Given the description of an element on the screen output the (x, y) to click on. 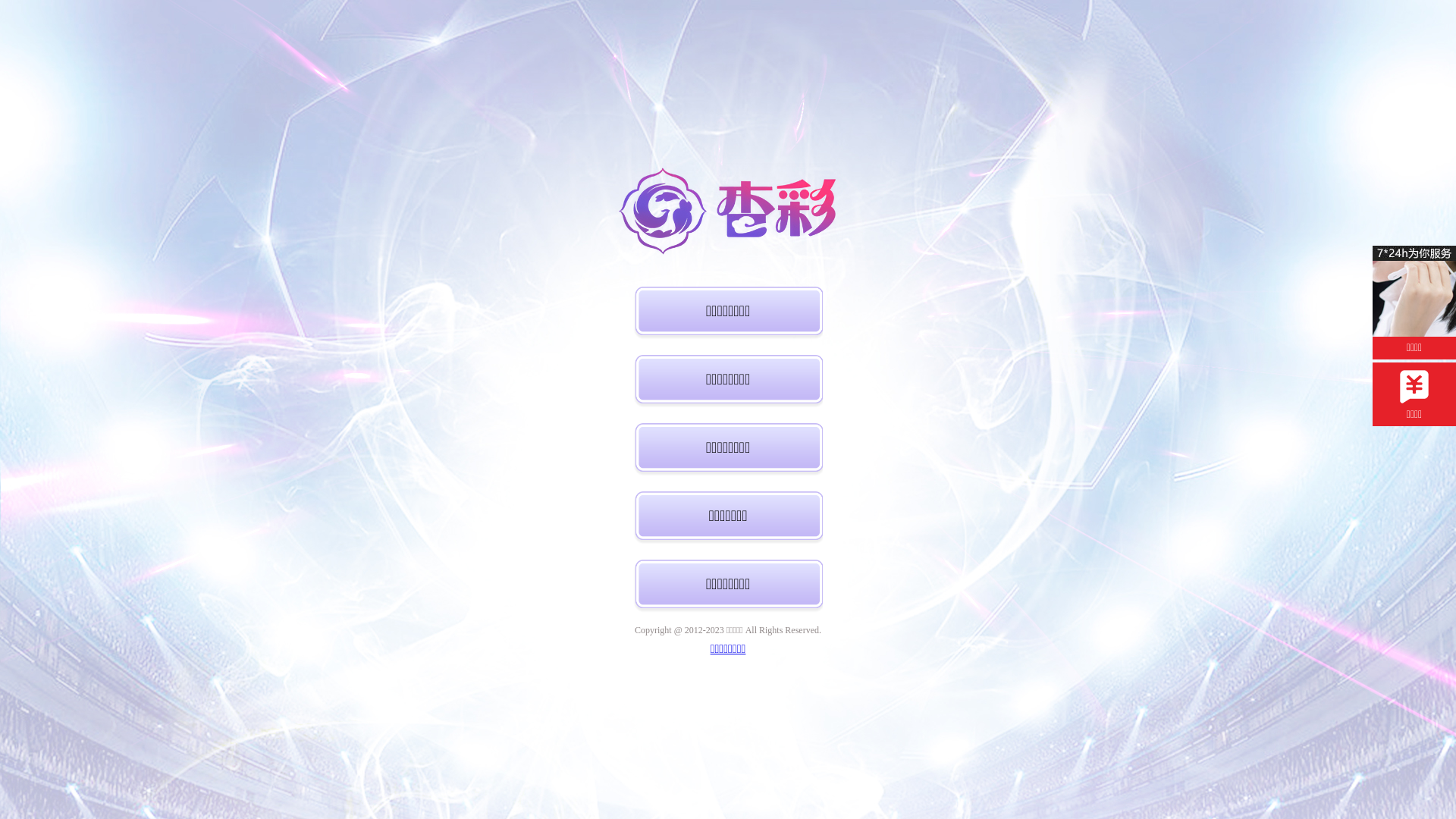
18753899000
15265483888 Element type: text (1195, 71)
